Given the description of an element on the screen output the (x, y) to click on. 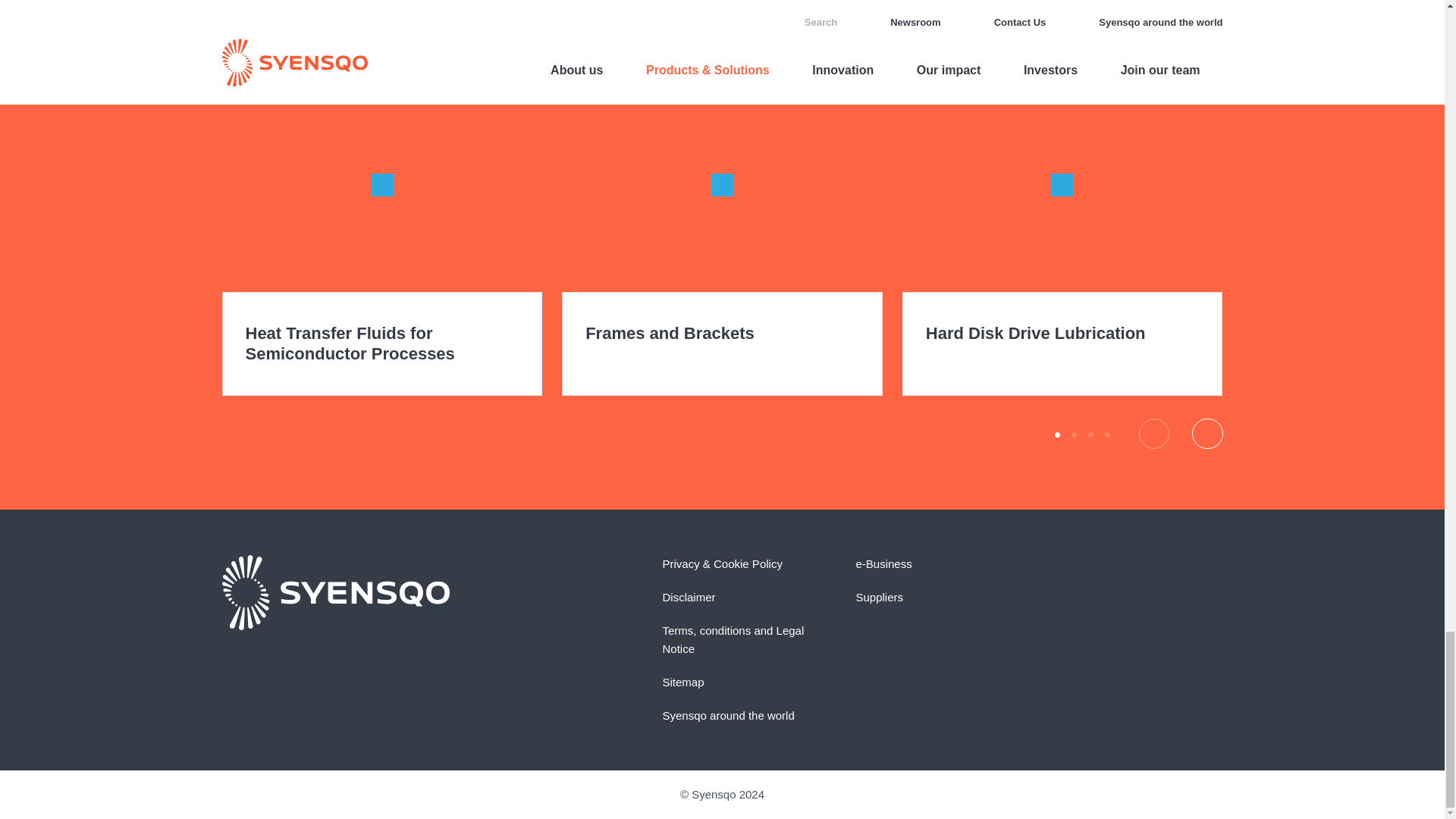
Solvay-hard-disk-drive-lubrication-application-header (1062, 184)
Solvay-frames-and-bracket-application-header (722, 184)
Solvay-chillers-and-heat-exchangers-application-header (381, 184)
